Given the description of an element on the screen output the (x, y) to click on. 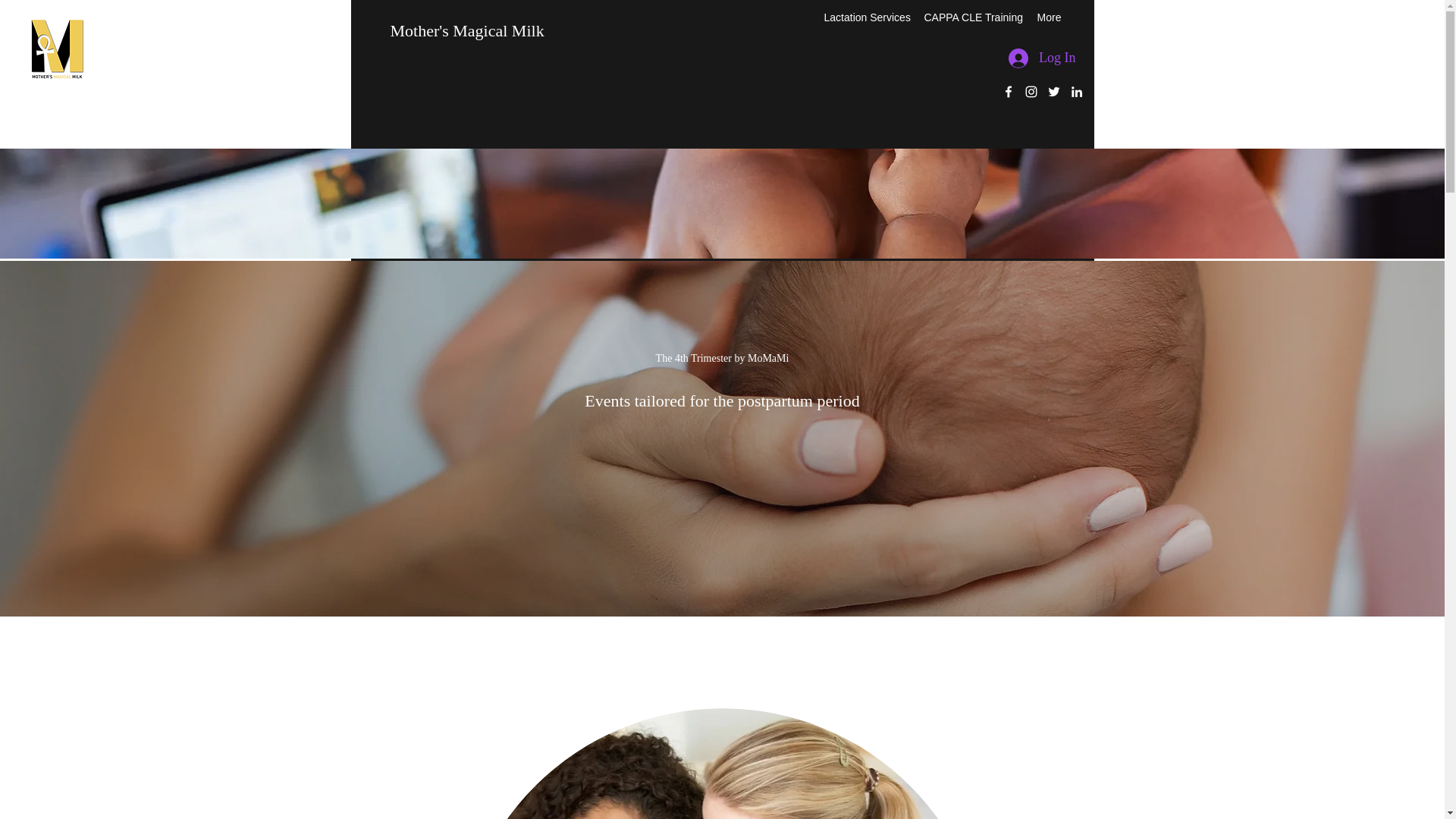
Mother's Magical Milk (466, 30)
Log In (1041, 58)
Lactation Services (864, 16)
CAPPA CLE Training (972, 16)
